Given the description of an element on the screen output the (x, y) to click on. 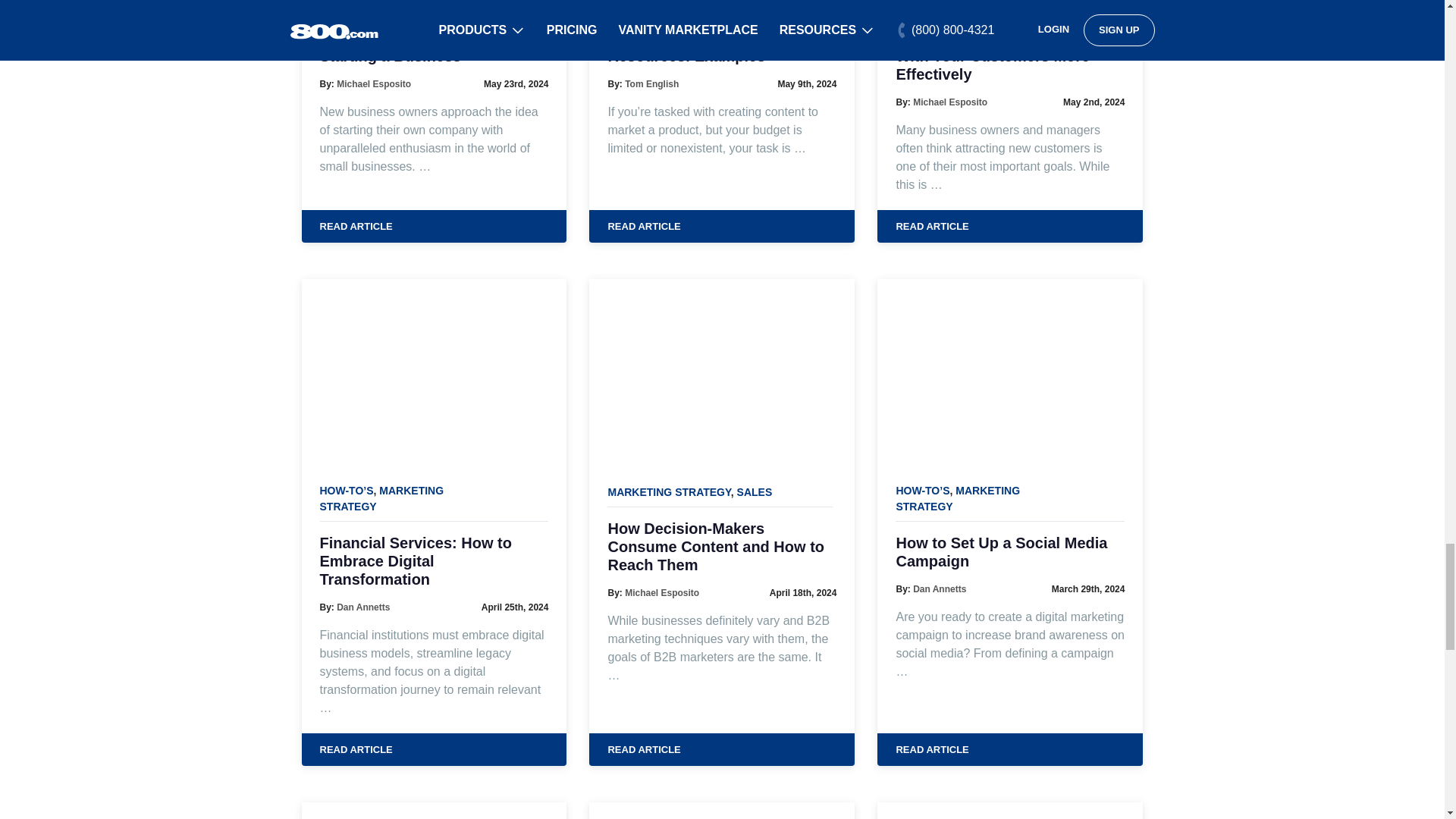
Posts by Michael Esposito (373, 83)
Posts by Dan Annetts (363, 606)
Posts by Dan Annetts (939, 588)
Posts by Tom English (651, 83)
Posts by Michael Esposito (949, 102)
Posts by Michael Esposito (661, 593)
